Given the description of an element on the screen output the (x, y) to click on. 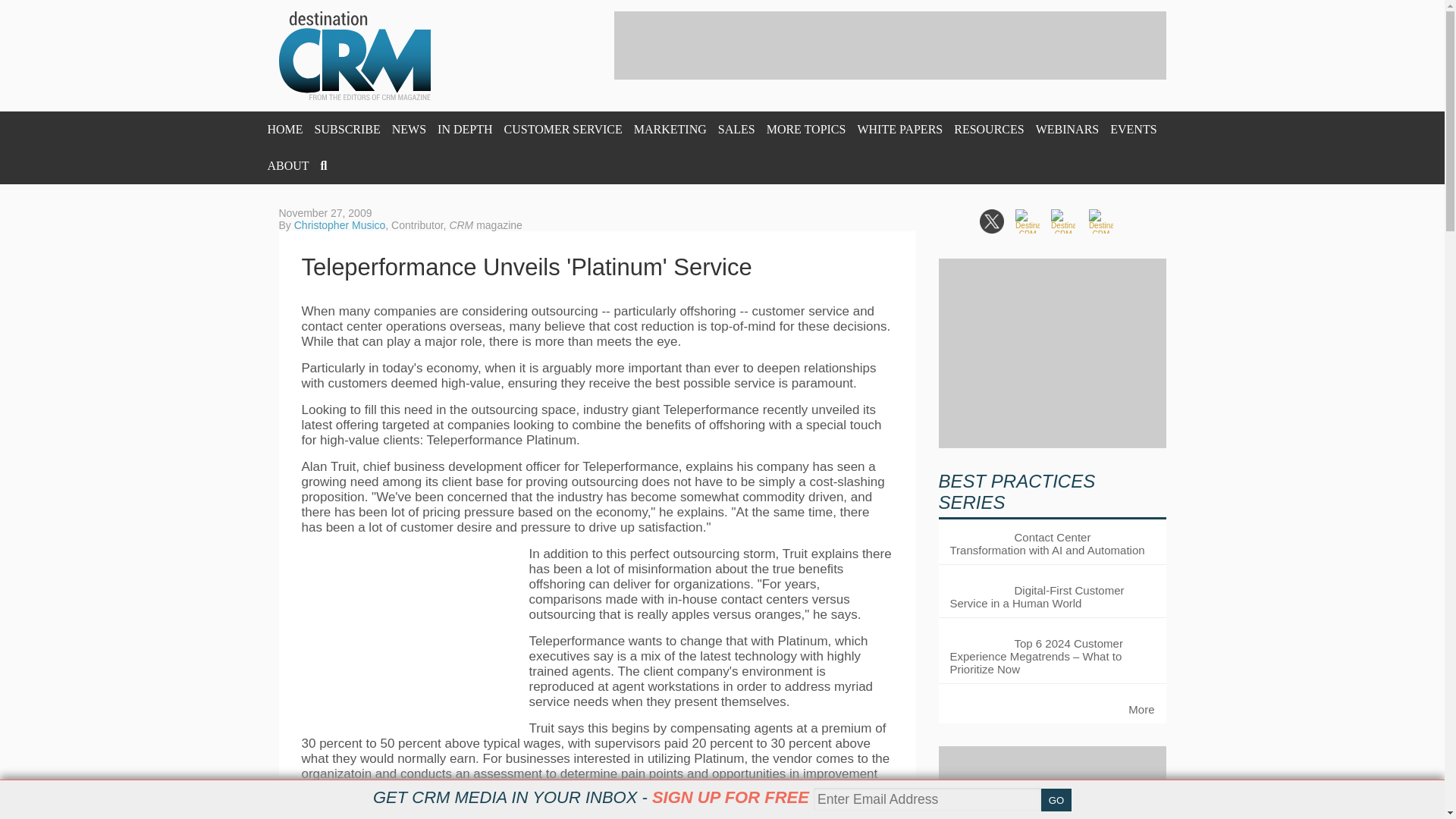
Marketing (669, 129)
CUSTOMER SERVICE (563, 129)
Customer Service (563, 129)
SUBSCRIBE (347, 129)
HOME (284, 129)
MORE TOPICS (806, 129)
GET CRM MEDIA IN YOUR INBOX - SIGN UP FOR FREE (590, 797)
RESOURCES (988, 129)
Sales (736, 129)
IN DEPTH (465, 129)
NEWS (408, 129)
MARKETING (669, 129)
GO (1056, 799)
SALES (736, 129)
WHITE PAPERS (899, 129)
